Given the description of an element on the screen output the (x, y) to click on. 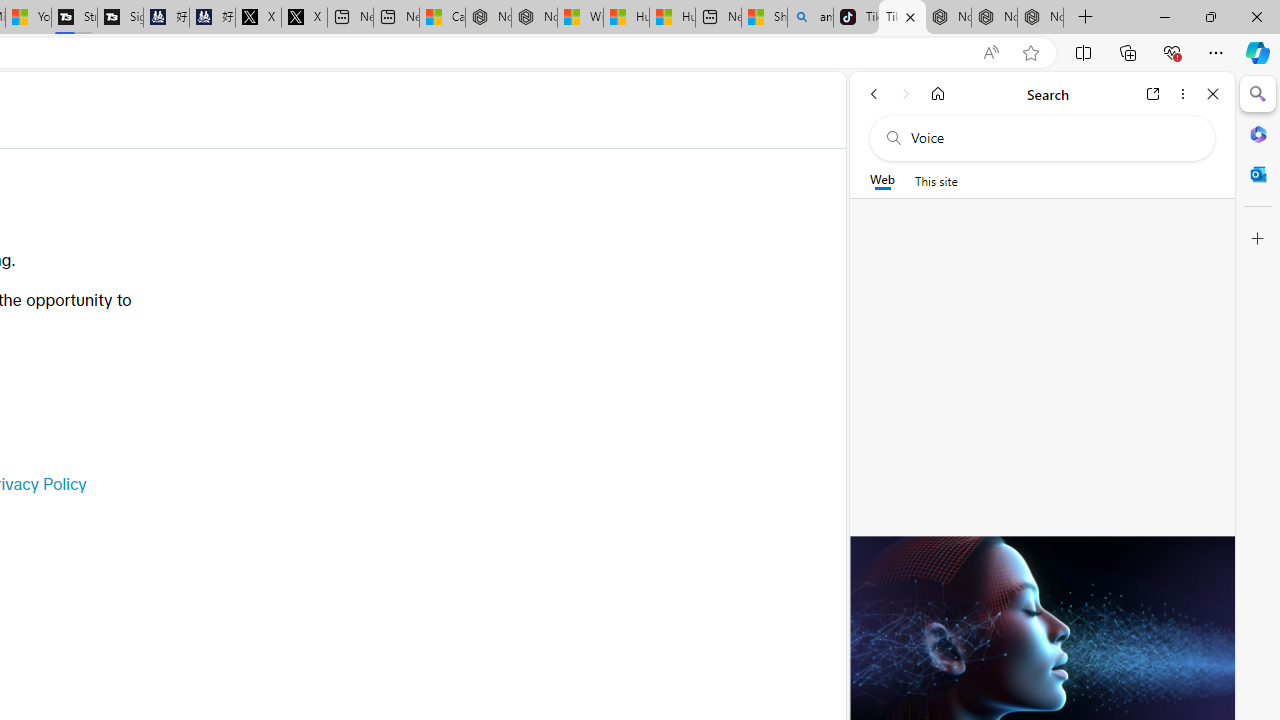
This site scope (936, 180)
TikTok (902, 17)
Forward (906, 93)
